Given the description of an element on the screen output the (x, y) to click on. 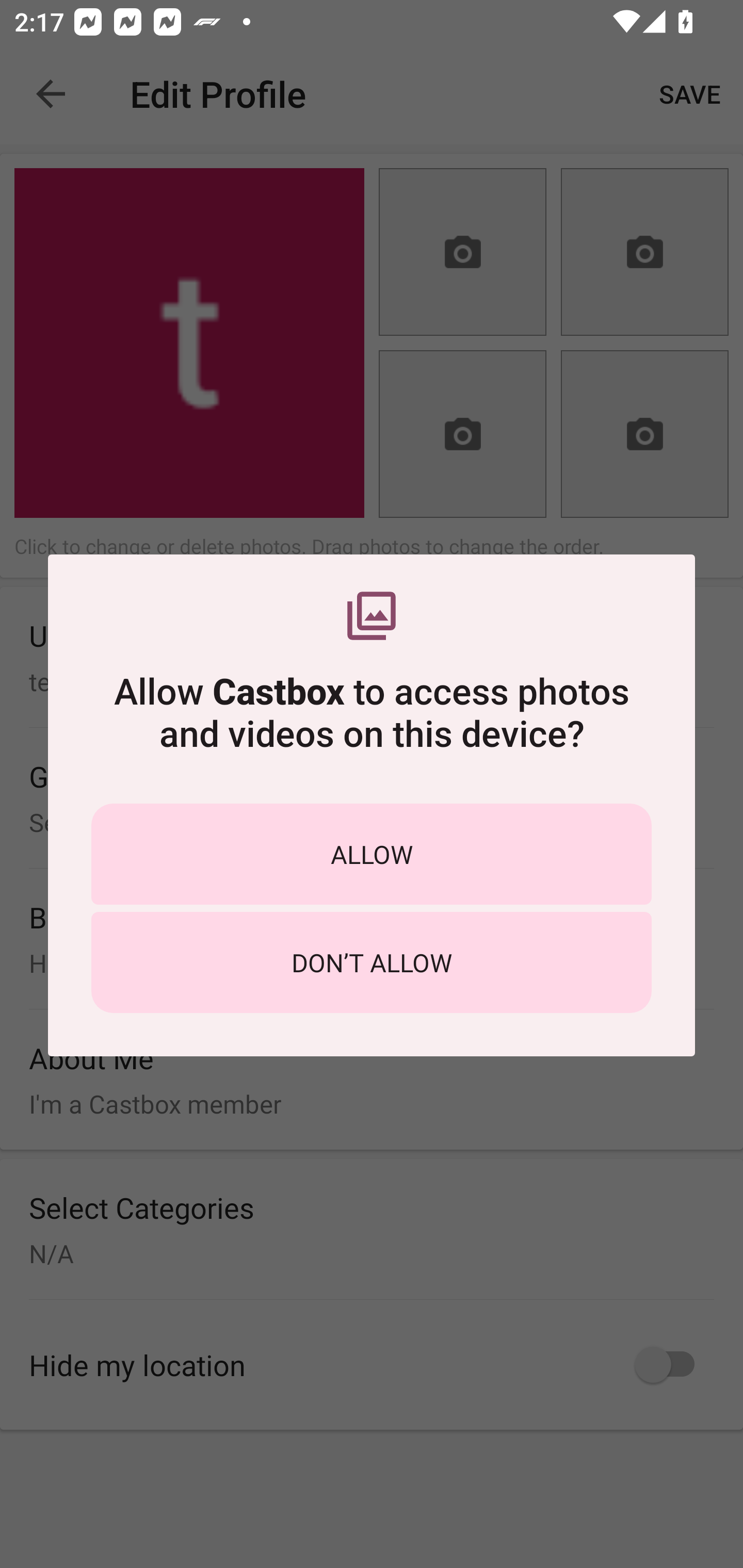
ALLOW (371, 853)
DON’T ALLOW (371, 962)
